Given the description of an element on the screen output the (x, y) to click on. 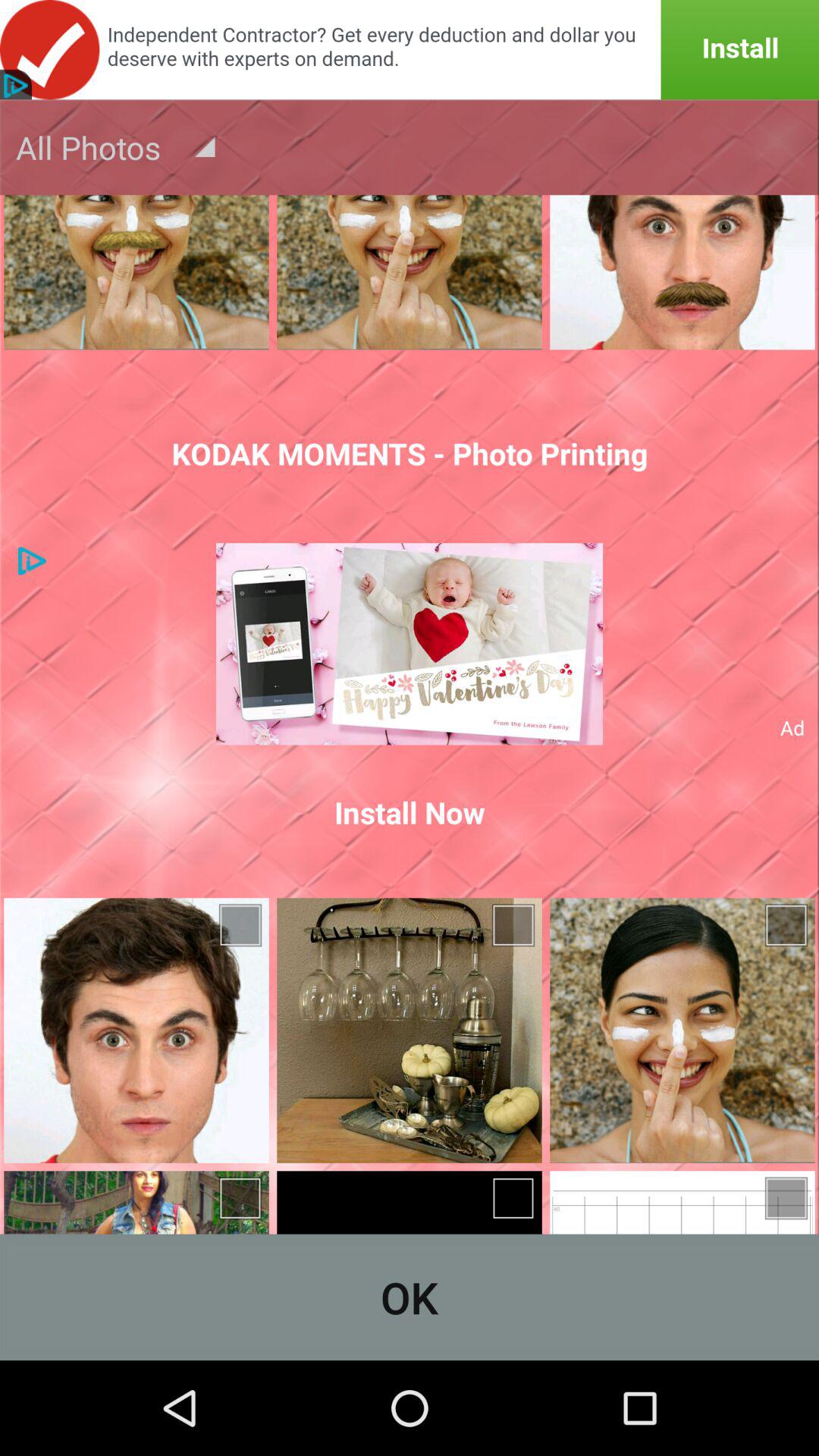
click on the first check box (242, 925)
